Given the description of an element on the screen output the (x, y) to click on. 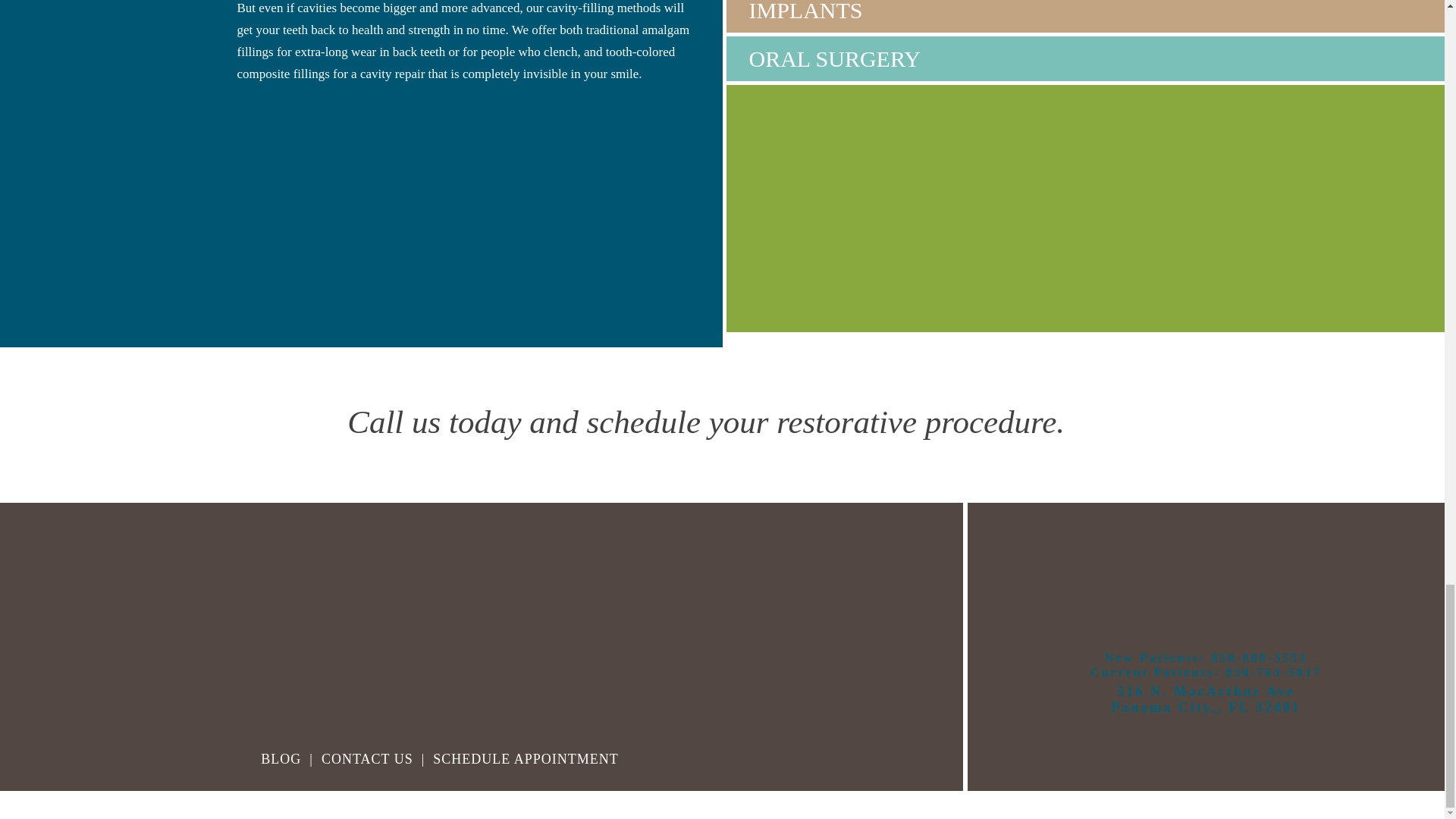
850-888-3553 (1205, 699)
BLOG (1259, 657)
SCHEDULE APPOINTMENT (280, 758)
CONTACT US (525, 758)
850-763-5817 (367, 758)
